Given the description of an element on the screen output the (x, y) to click on. 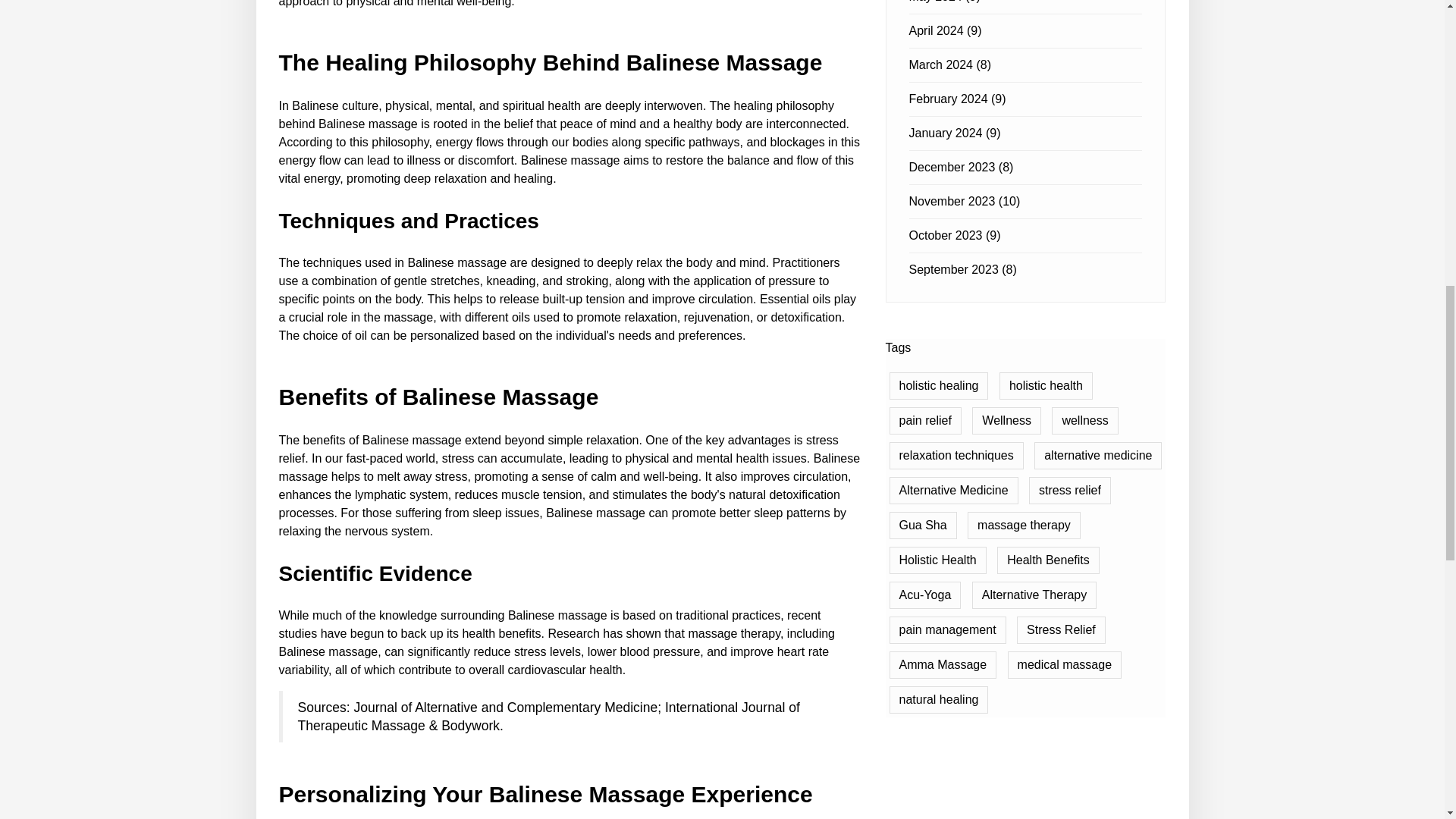
holistic health (1045, 385)
alternative medicine (1097, 455)
holistic healing (938, 385)
stress relief (1069, 490)
Wellness (1006, 420)
relaxation techniques (955, 455)
pain relief (924, 420)
wellness (1084, 420)
Alternative Medicine (952, 490)
